Given the description of an element on the screen output the (x, y) to click on. 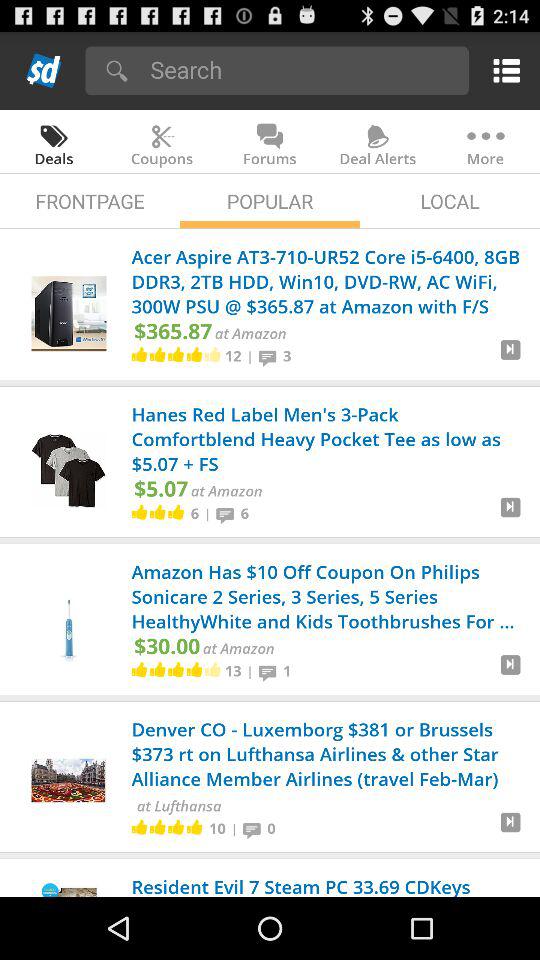
swipe until | icon (233, 828)
